Given the description of an element on the screen output the (x, y) to click on. 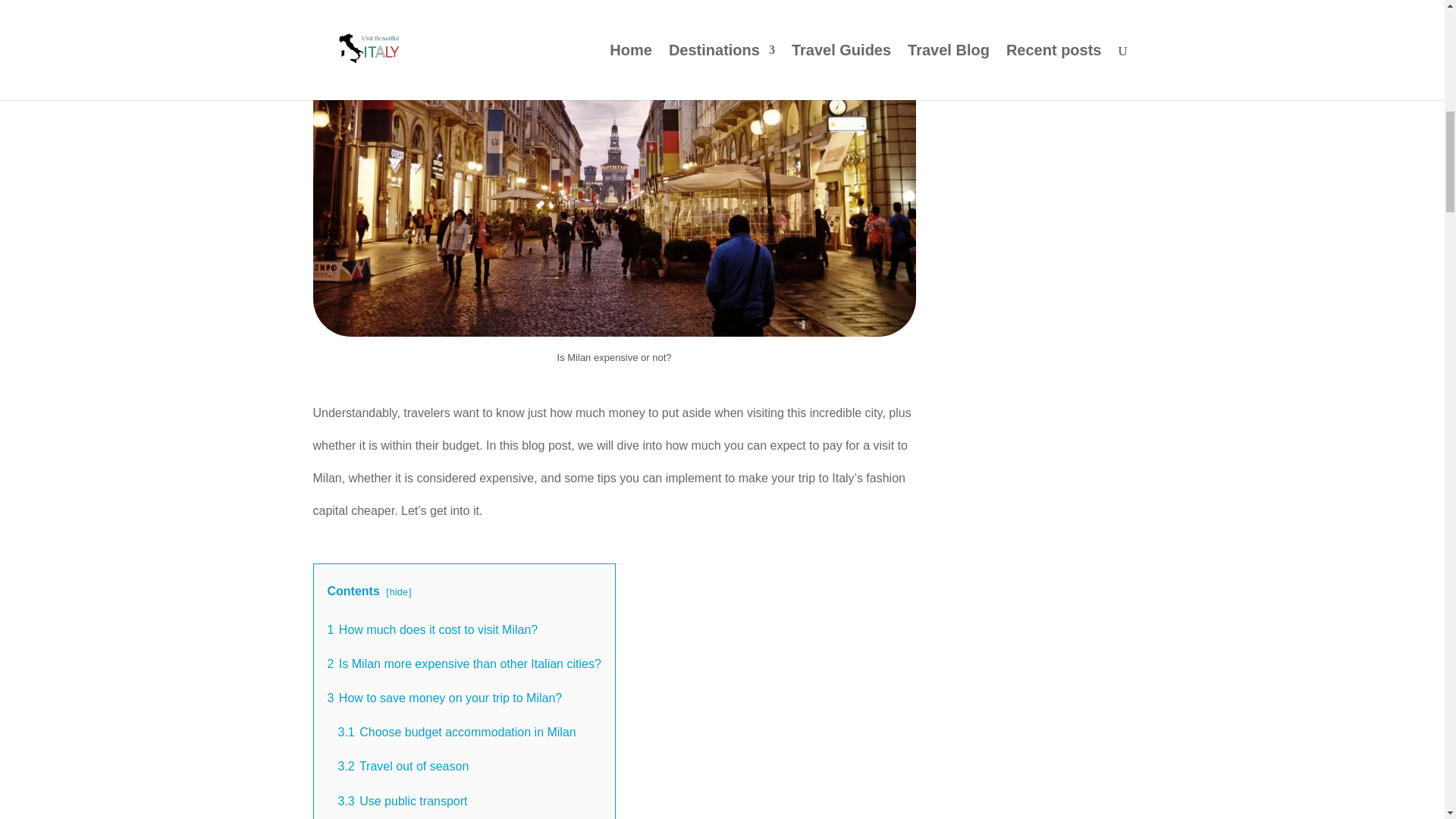
3 How to save money on your trip to Milan? (444, 697)
3.1 Choose budget accommodation in Milan (456, 731)
hide (398, 591)
3.2 Travel out of season (402, 766)
3.3 Use public transport (402, 800)
2 Is Milan more expensive than other Italian cities? (464, 663)
1 How much does it cost to visit Milan? (432, 629)
